Given the description of an element on the screen output the (x, y) to click on. 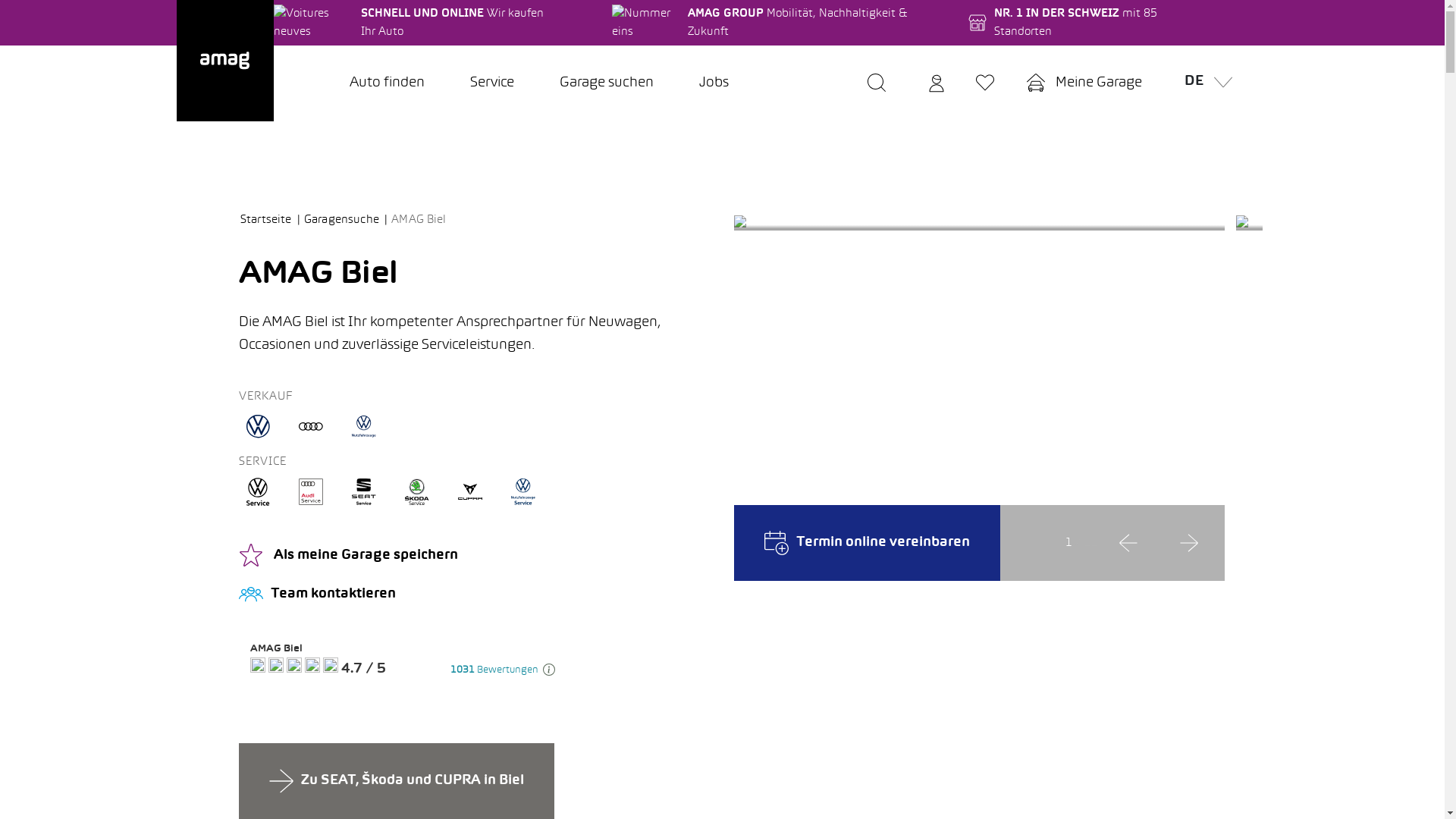
Team kontaktieren Element type: text (474, 594)
Termin online vereinbaren Element type: text (867, 542)
NR. 1 IN DER SCHWEIZ mit 85 Standorten Element type: text (1072, 22)
Auto finden Element type: text (386, 83)
Jobs Element type: text (713, 83)
Service Element type: text (491, 83)
Startseite Element type: text (270, 219)
Meine Garage Element type: text (1083, 83)
DE Element type: text (1203, 83)
Garagensuche Element type: text (345, 219)
SCHNELL UND ONLINE Wir kaufen Ihr Auto Element type: text (411, 22)
Garage suchen Element type: text (606, 83)
